Given the description of an element on the screen output the (x, y) to click on. 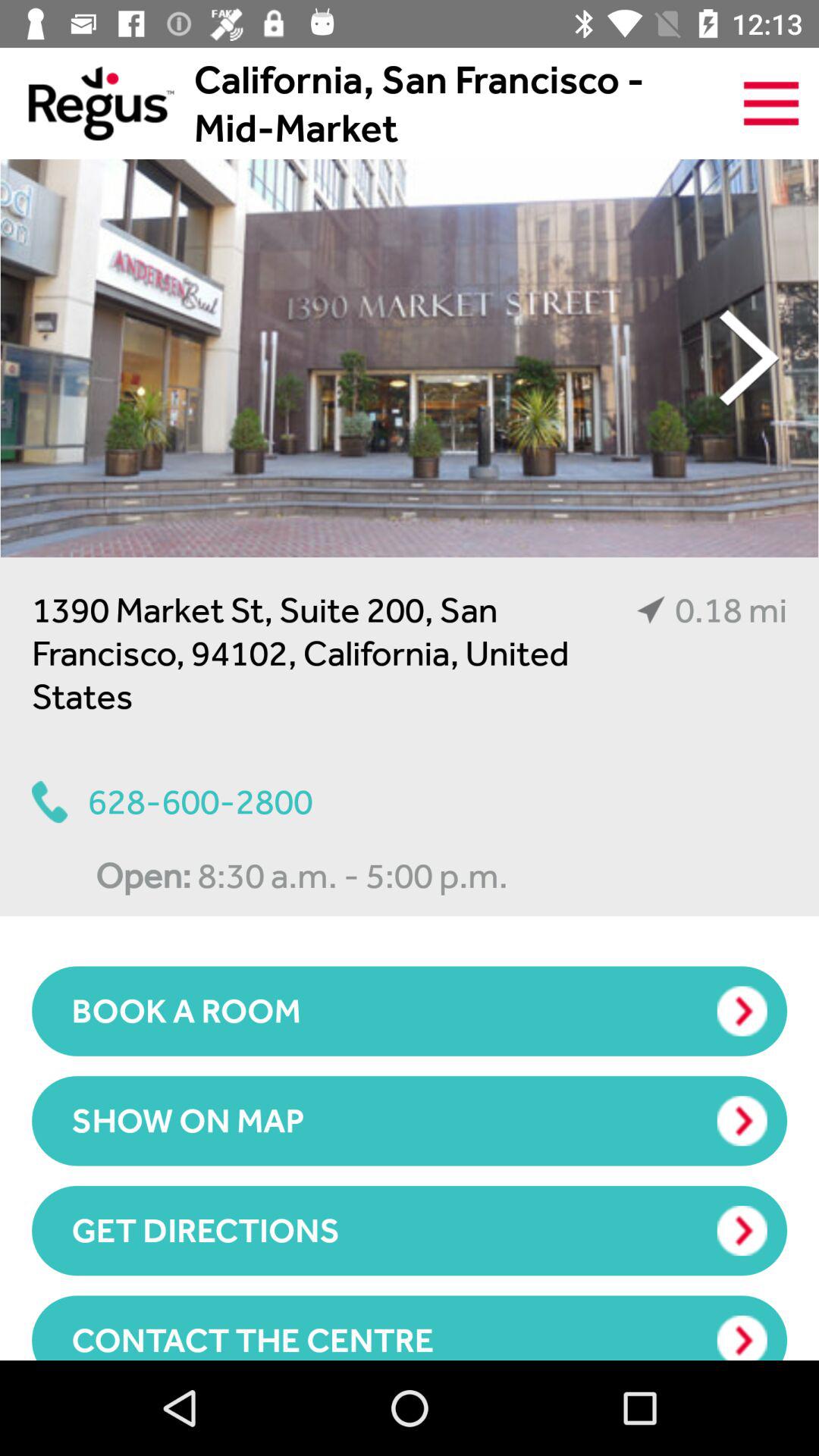
go to homepage (87, 103)
